Given the description of an element on the screen output the (x, y) to click on. 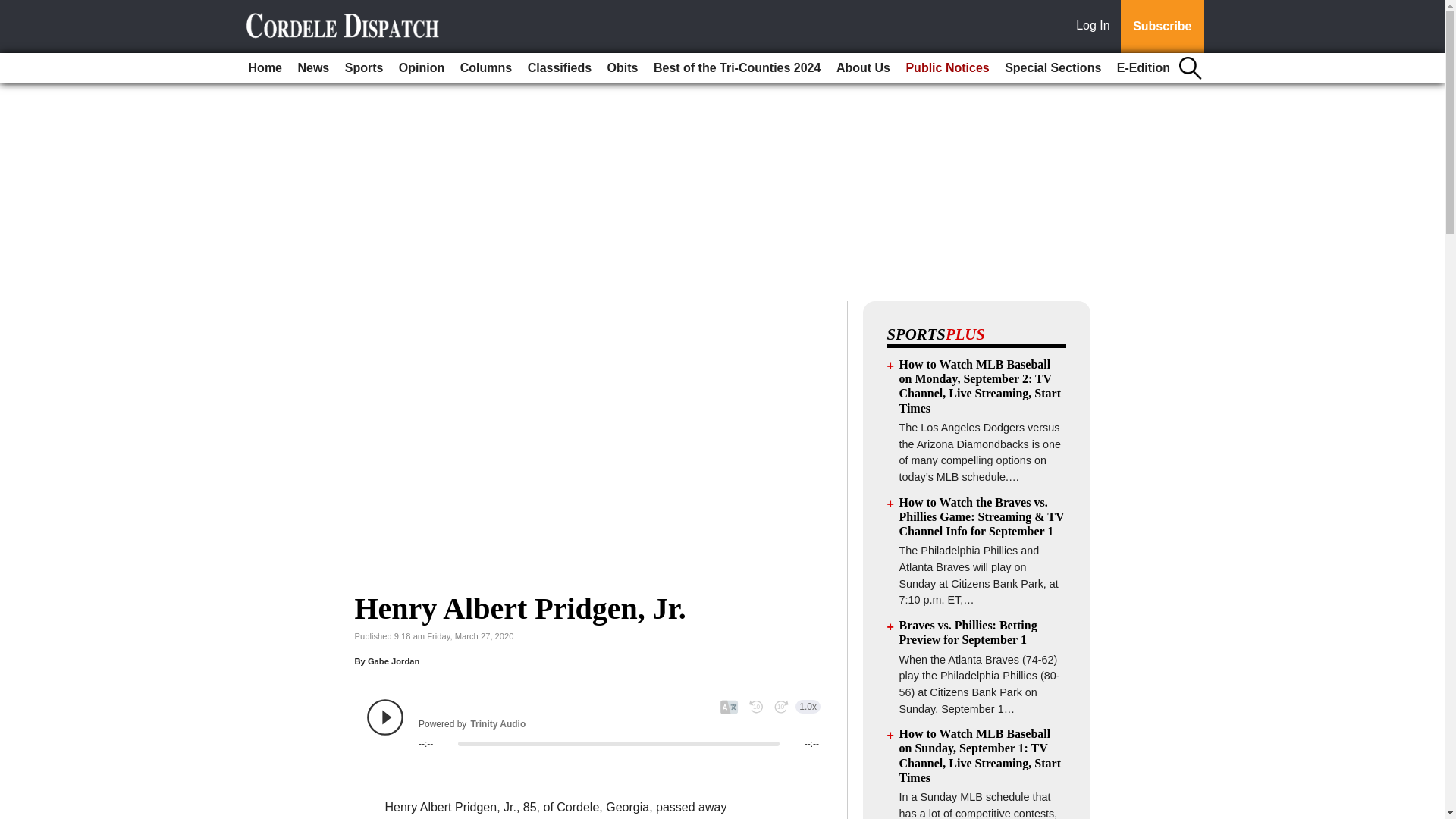
Go (13, 9)
Best of the Tri-Counties 2024 (737, 68)
Opinion (421, 68)
Public Notices (946, 68)
Sports (364, 68)
Home (265, 68)
Log In (1095, 26)
E-Edition (1143, 68)
Braves vs. Phillies: Betting Preview for September 1 (967, 632)
Special Sections (1052, 68)
